Given the description of an element on the screen output the (x, y) to click on. 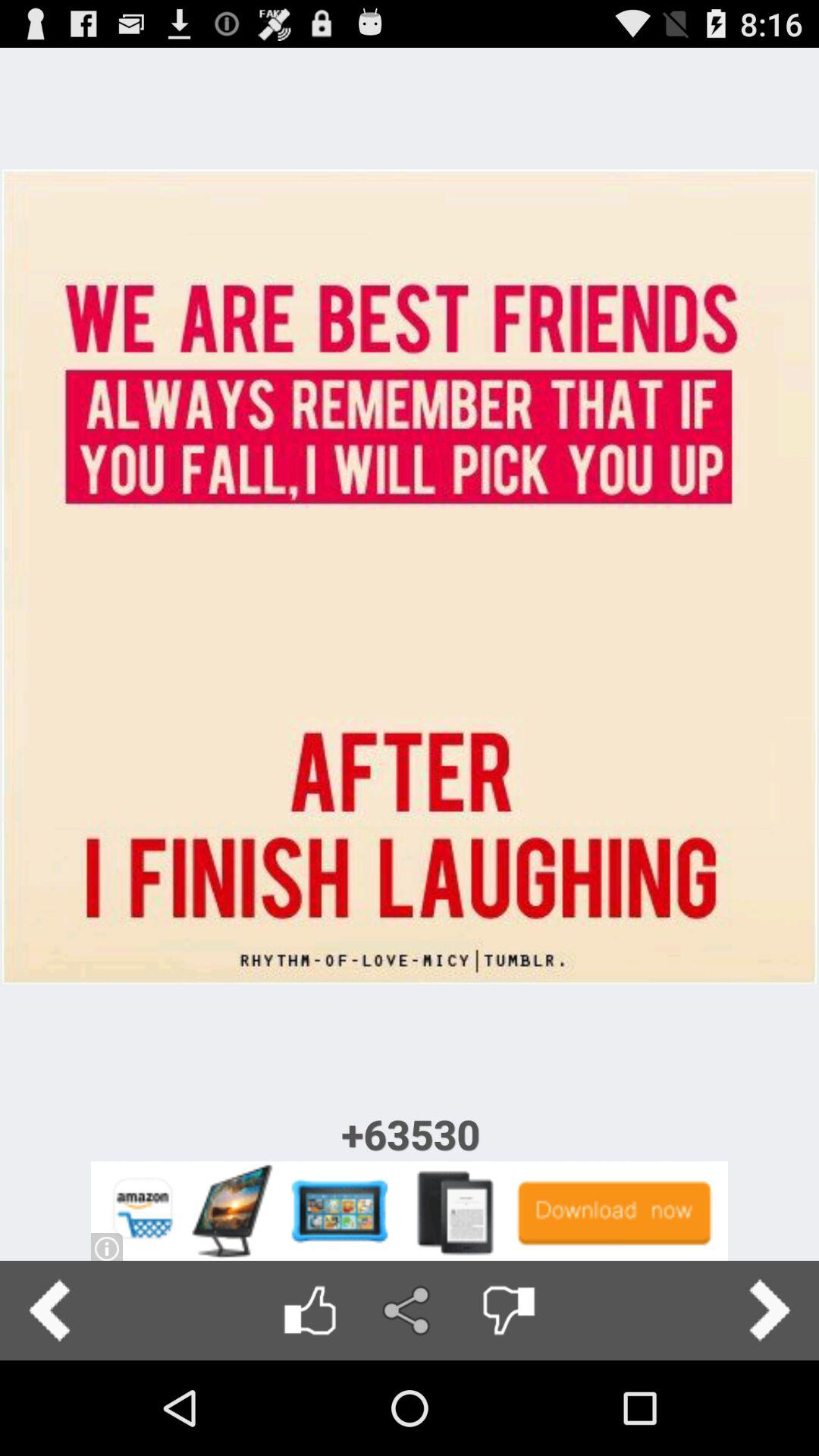
like image (309, 1310)
